Given the description of an element on the screen output the (x, y) to click on. 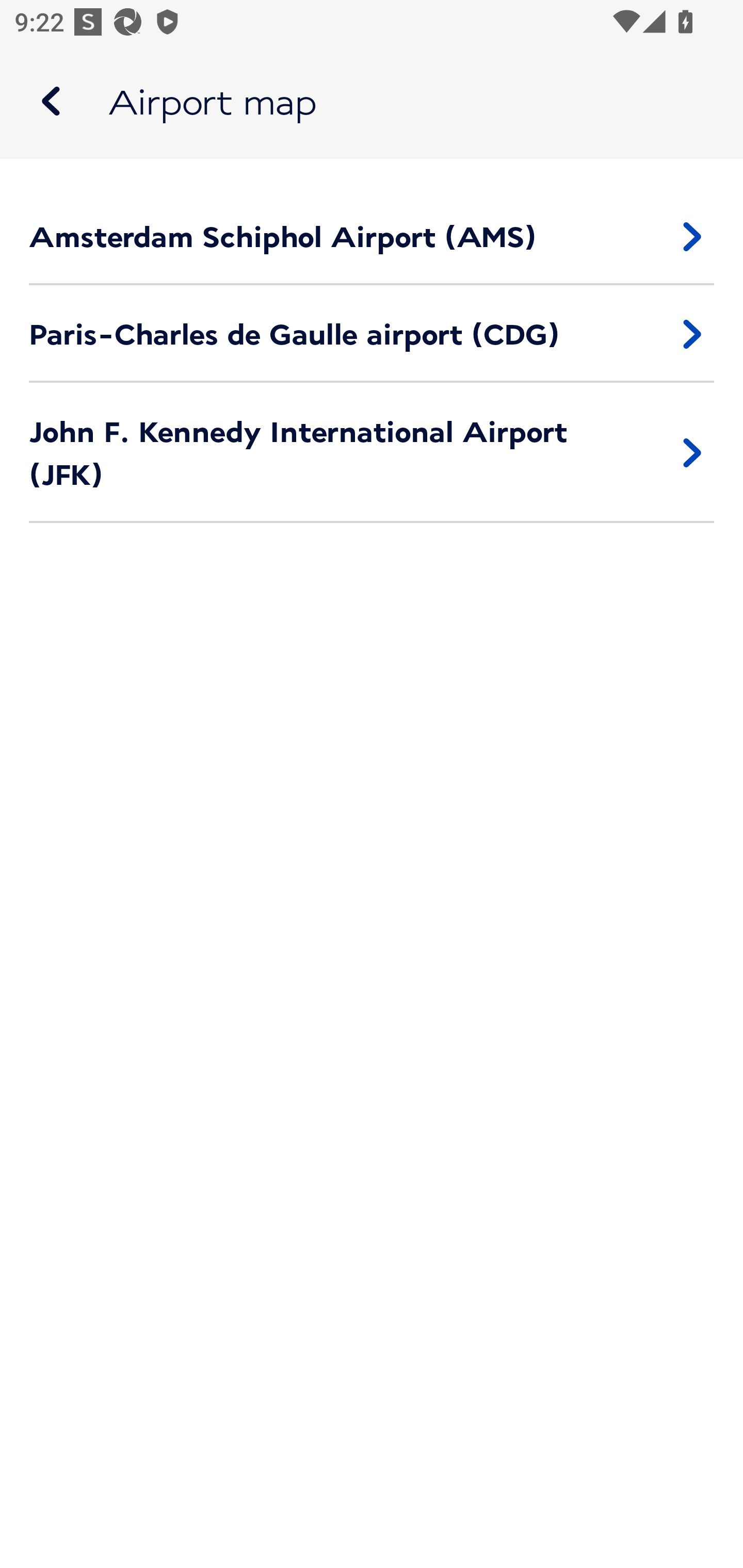
Airport map (371, 100)
Amsterdam Schiphol Airport (AMS) (371, 236)
Paris-Charles de Gaulle airport (CDG) (371, 333)
John F. Kennedy International Airport (JFK) (371, 452)
